Given the description of an element on the screen output the (x, y) to click on. 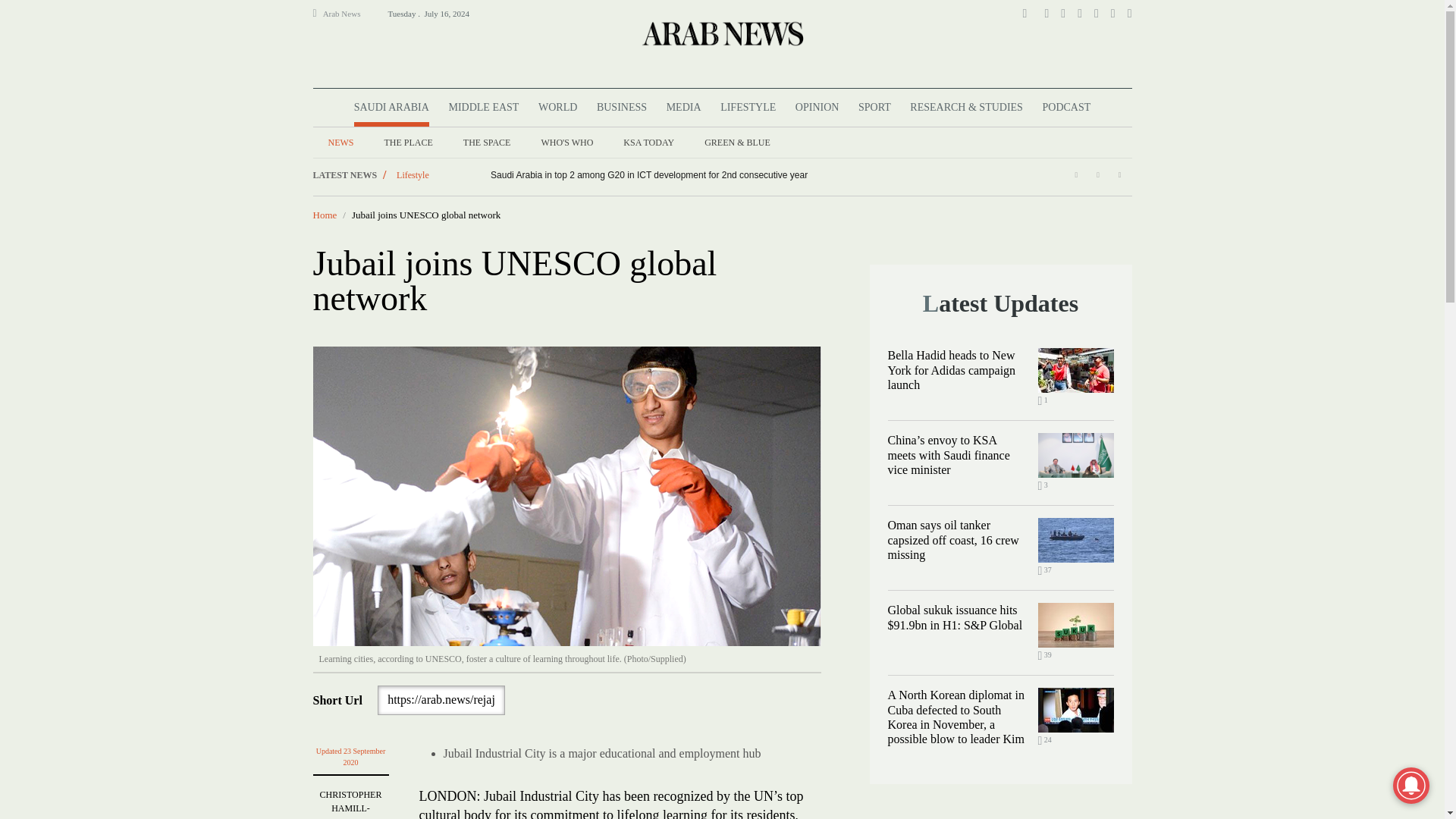
Oman says oil tanker capsized off coast, 16 crew missing (1074, 539)
Arabnews (721, 33)
Bella Hadid heads to New York for Adidas campaign launch (1074, 370)
Arab News (348, 13)
